Given the description of an element on the screen output the (x, y) to click on. 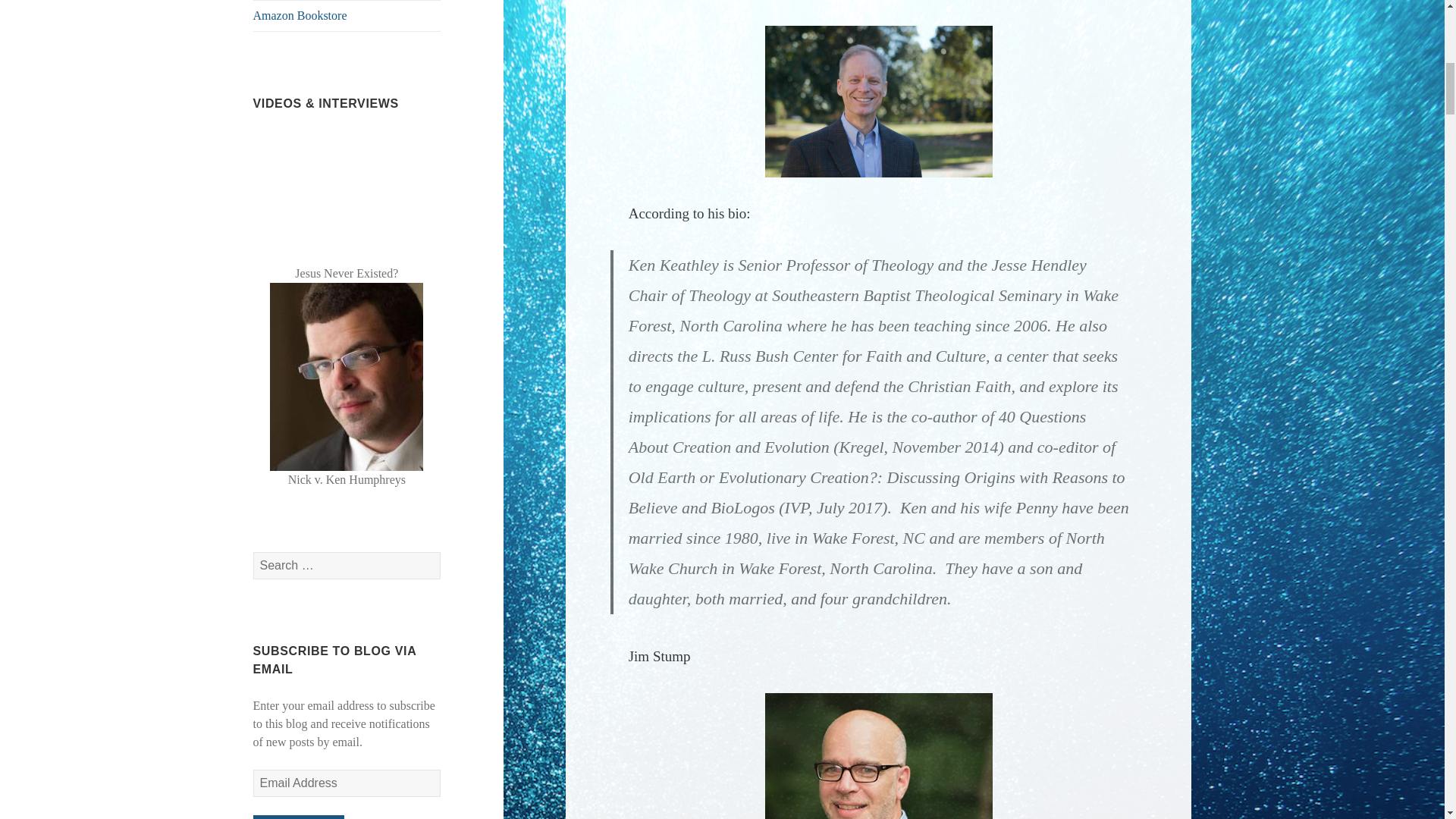
SUBSCRIBE (299, 816)
Amazon Bookstore (347, 15)
